Given the description of an element on the screen output the (x, y) to click on. 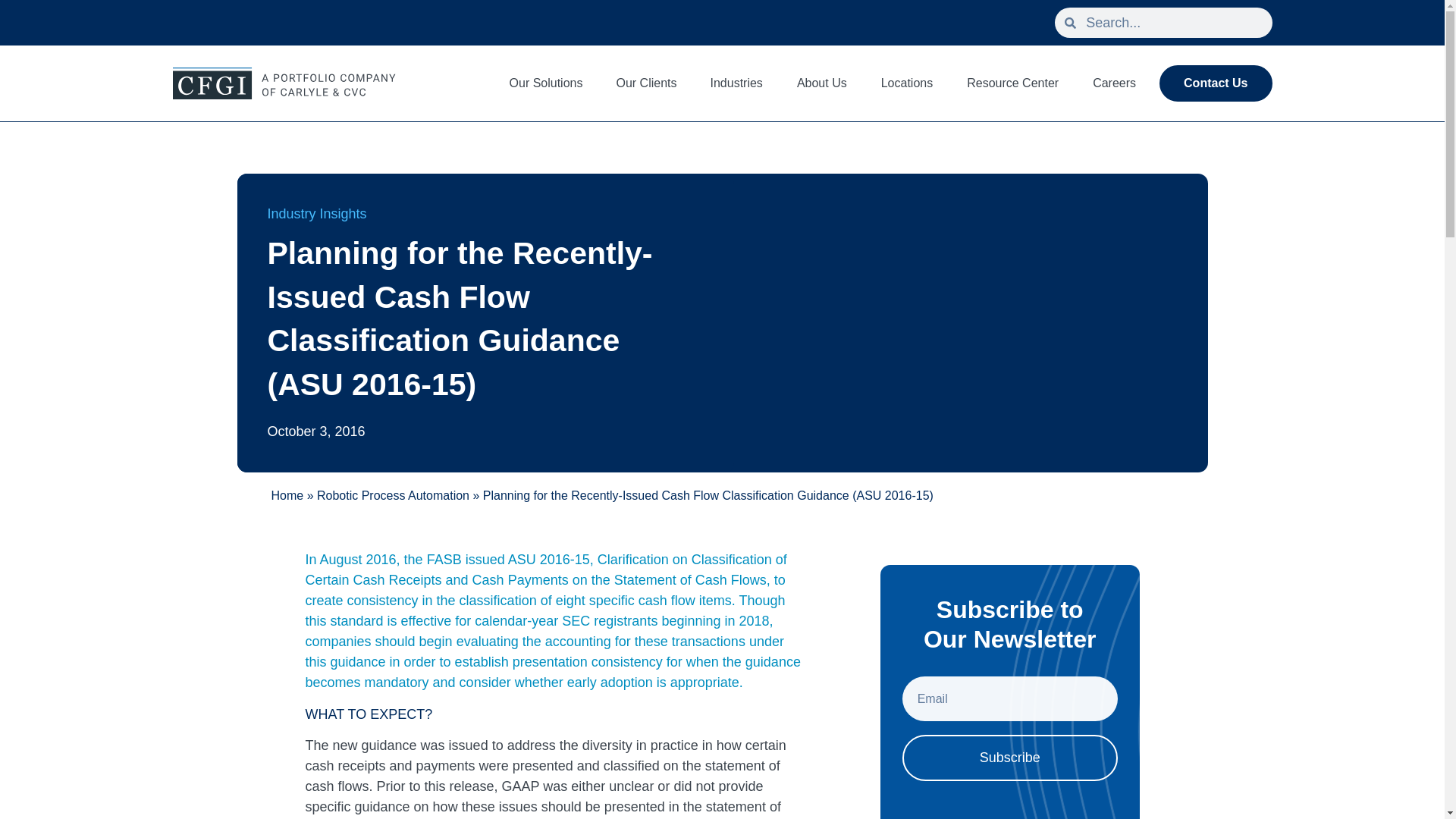
Industries (735, 83)
Our Solutions (546, 83)
About Us (821, 83)
Our Clients (645, 83)
